Given the description of an element on the screen output the (x, y) to click on. 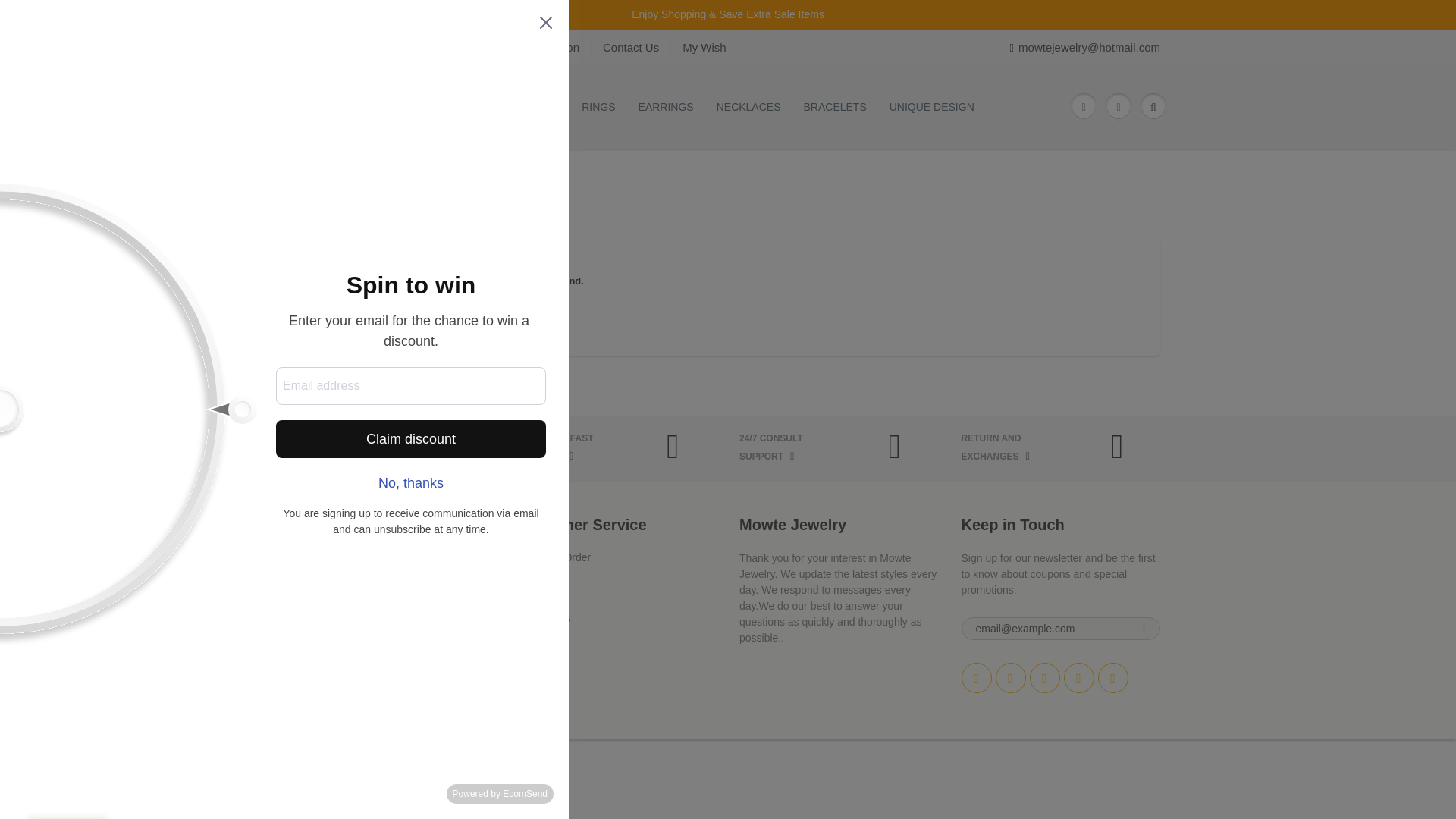
Twitter (975, 677)
EARRINGS (665, 107)
Contact Us (630, 47)
RETURN AND EXCHANGES (1037, 448)
Pinterest (1044, 677)
PayPal (549, 782)
Buyer Protection (537, 47)
Sign In (312, 557)
My Account (442, 47)
BRACELETS (834, 107)
LIGHTNING FAST DELIVERY (592, 448)
About Us (318, 47)
Buyer Protection (334, 617)
Terms of Service (334, 633)
here (399, 305)
